Given the description of an element on the screen output the (x, y) to click on. 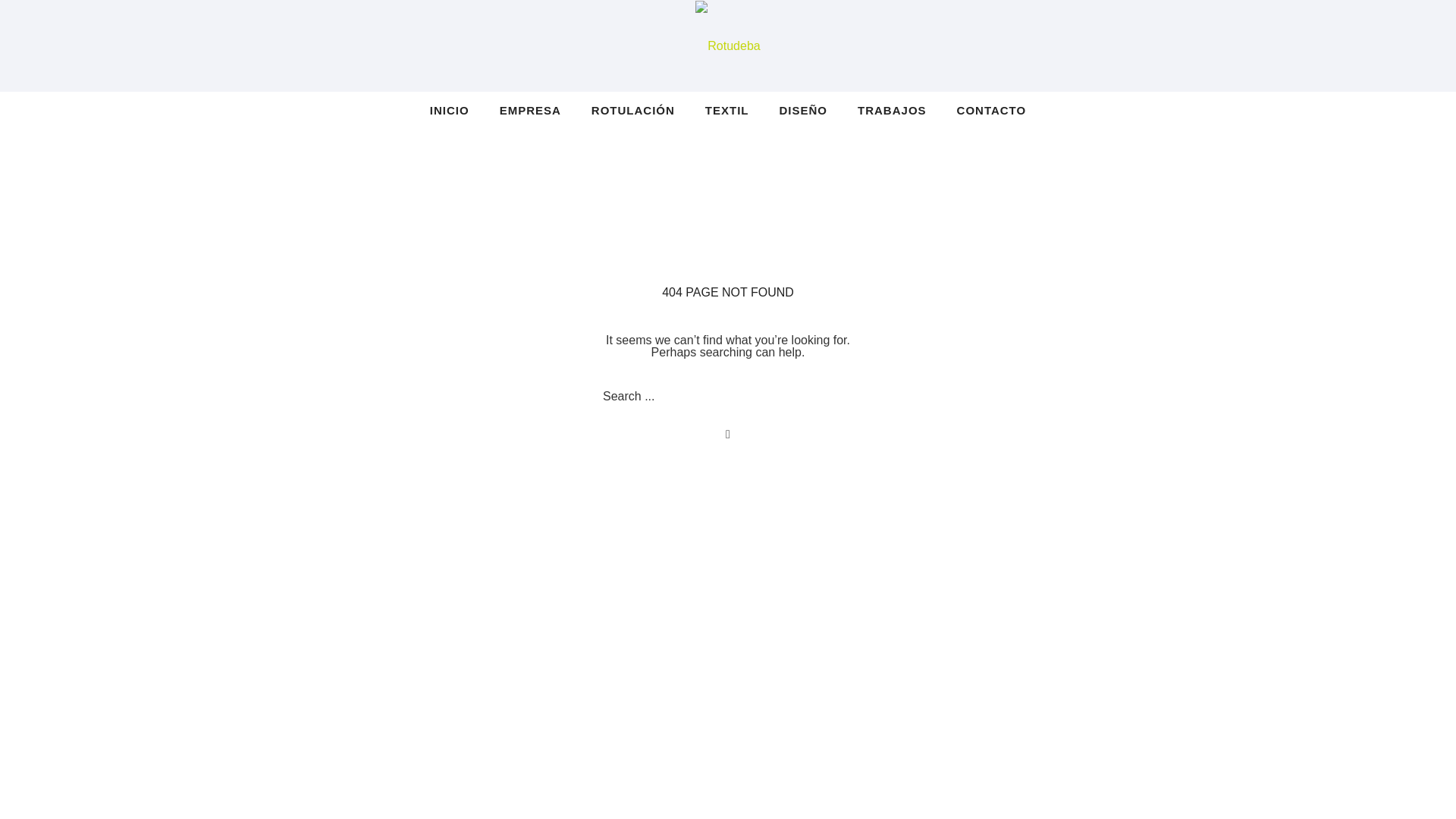
CONTACTO (984, 110)
TEXTIL (727, 110)
INICIO (456, 110)
EMPRESA (530, 110)
Textil (727, 110)
Inicio (456, 110)
TRABAJOS (892, 110)
Empresa (530, 110)
Contacto (984, 110)
Trabajos (892, 110)
